Given the description of an element on the screen output the (x, y) to click on. 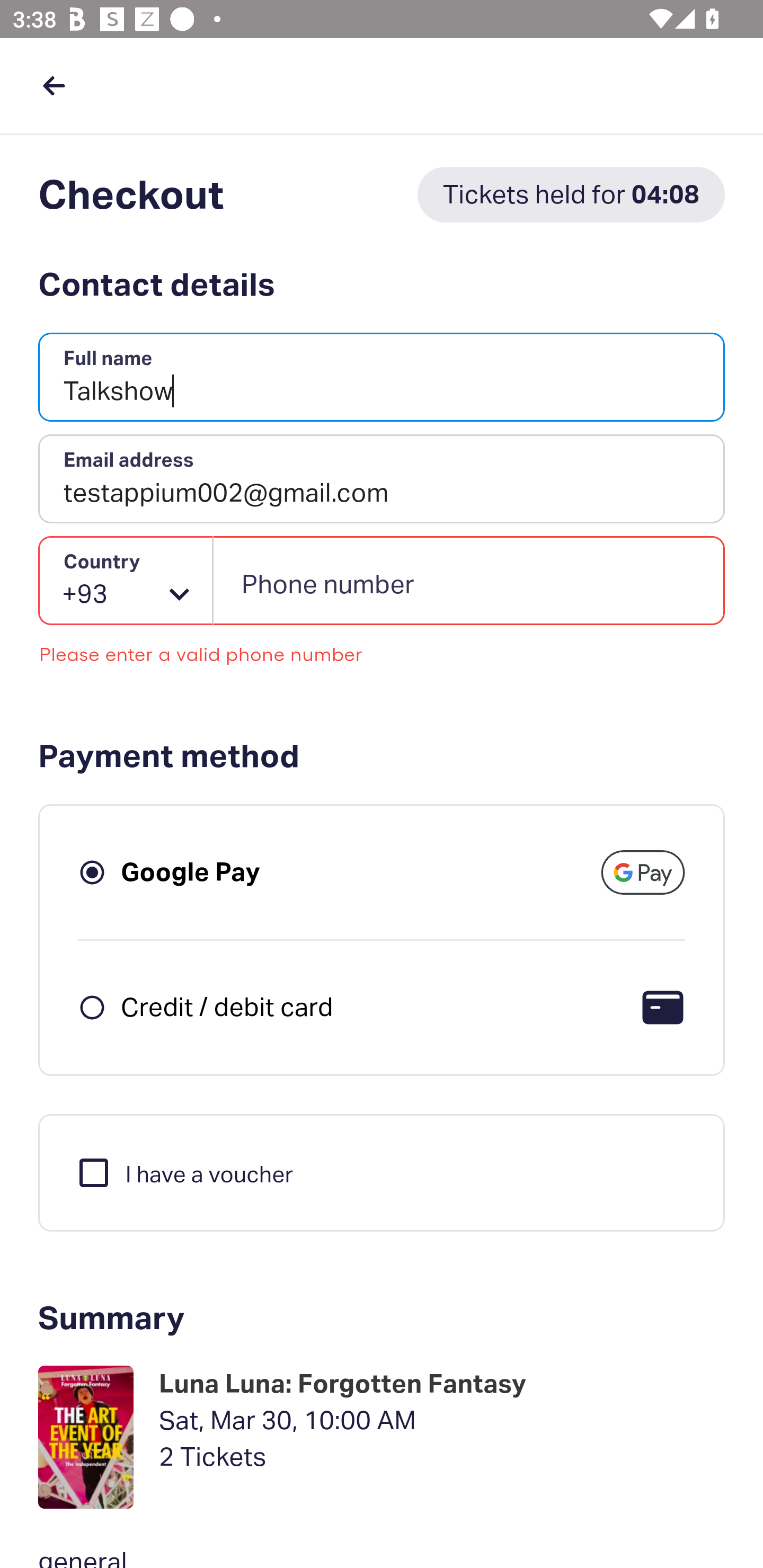
back button (53, 85)
Talkshow (381, 377)
testappium002@gmail.com (381, 478)
  +93 (126, 580)
Google Pay (190, 871)
Credit / debit card (227, 1006)
I have a voucher (183, 1171)
